Given the description of an element on the screen output the (x, y) to click on. 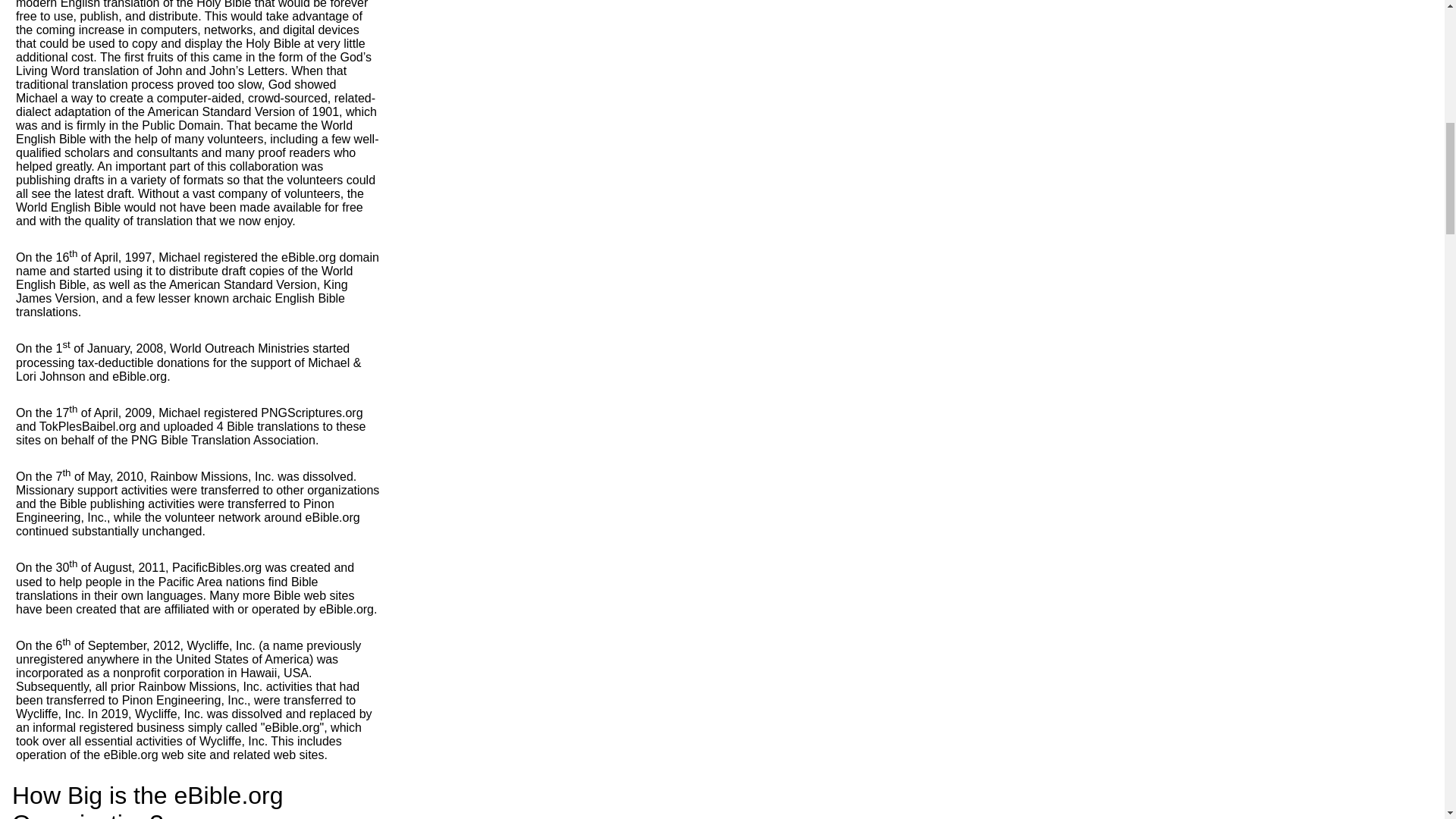
Wycliffe, Inc. (220, 645)
Rainbow Missions, Inc. (212, 476)
PacificBibles.org (216, 567)
World Outreach Ministries (239, 349)
PNG Bible Translation Association (223, 440)
World English Bible (184, 131)
